Given the description of an element on the screen output the (x, y) to click on. 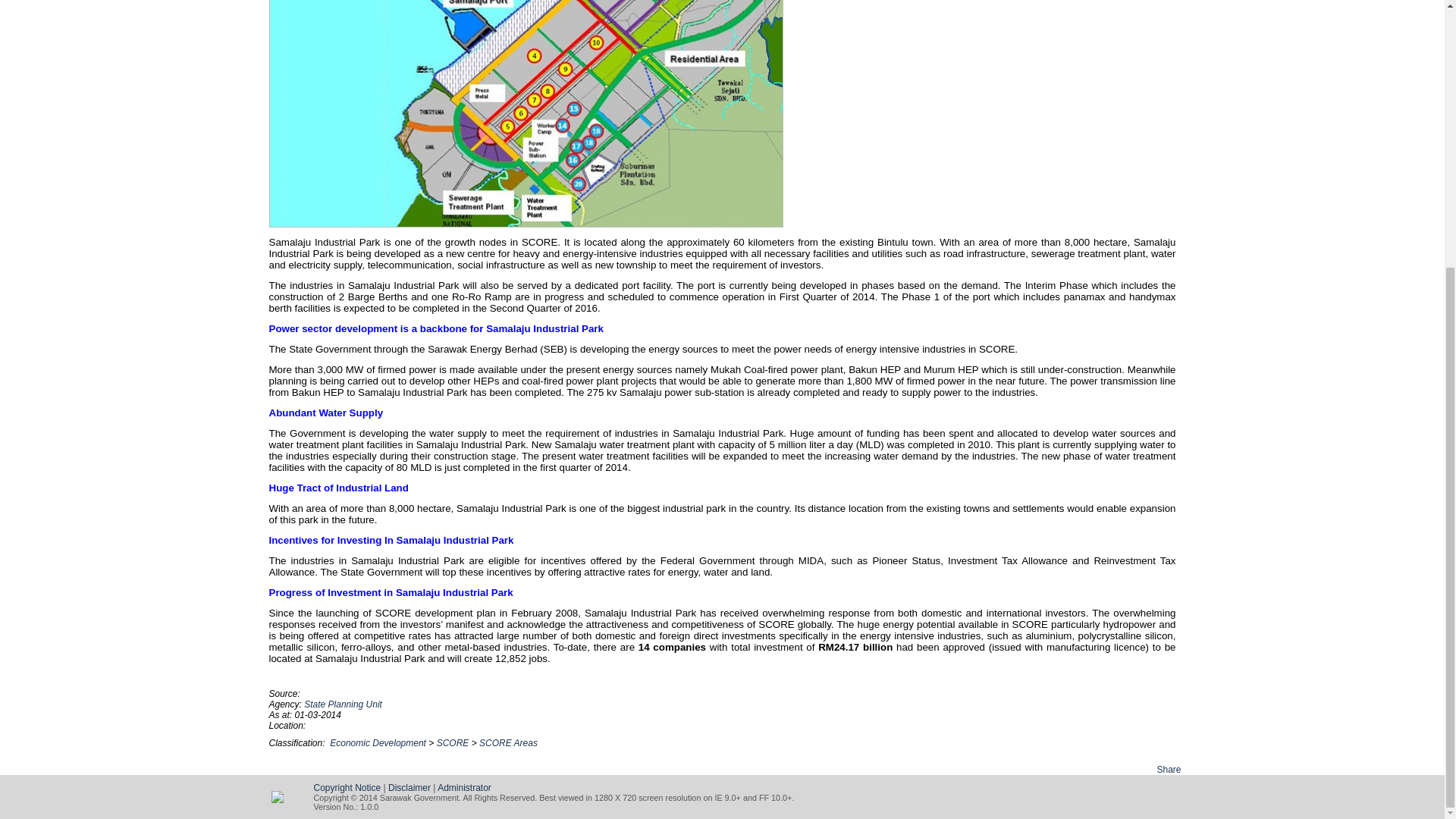
SCORE (452, 742)
Disclaimer (409, 787)
Copyright Notice (347, 787)
Economic Development (378, 742)
Administrator (465, 787)
State Planning Unit (342, 704)
Disclaimer (409, 787)
Copyright Notice (347, 787)
Share (1168, 769)
Administrator (465, 787)
SCORE Areas (508, 742)
